Given the description of an element on the screen output the (x, y) to click on. 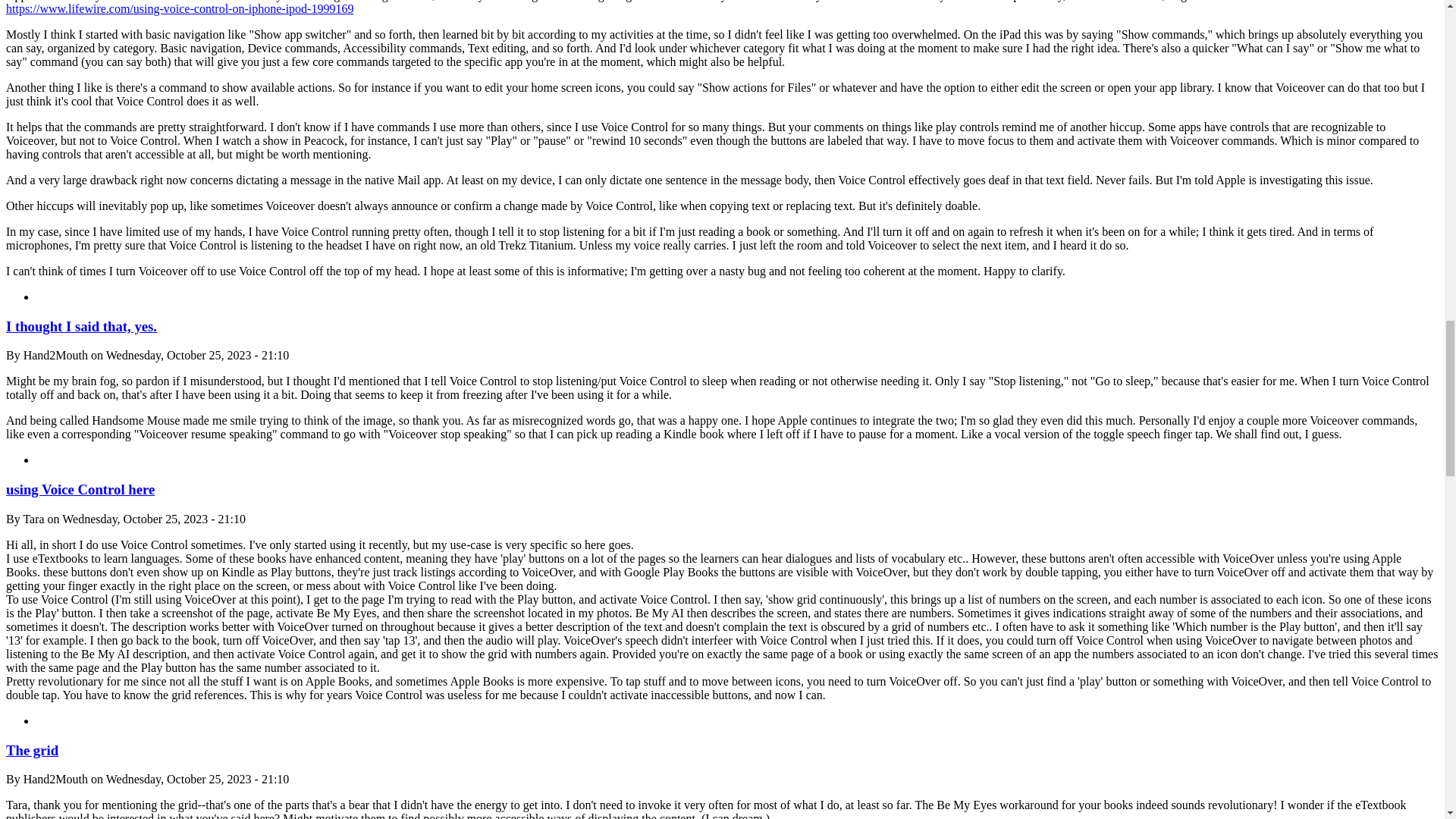
I thought I said that, yes. (81, 326)
The grid (31, 750)
using Voice Control here (79, 489)
